Given the description of an element on the screen output the (x, y) to click on. 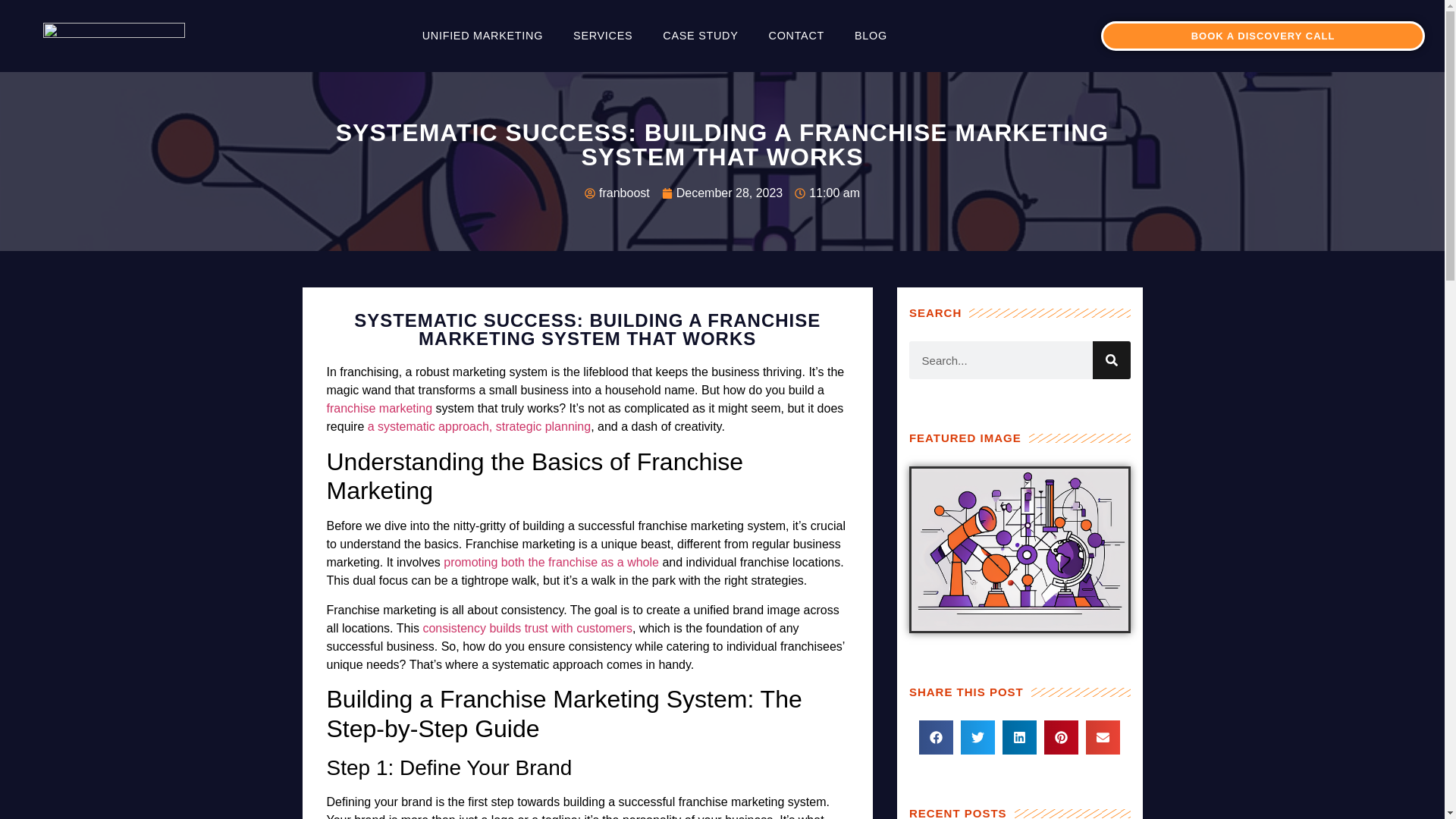
CONTACT (797, 35)
franchise marketing systems - franboost (113, 35)
BOOK A DISCOVERY CALL (1262, 35)
promoting both the franchise as a whole (551, 562)
December 28, 2023 (722, 193)
a systematic approach, strategic planning (479, 426)
SERVICES (602, 35)
BLOG (871, 35)
consistency builds trust with customers (526, 627)
franchise marketing systems - franboost (1019, 549)
CASE STUDY (699, 35)
franchise marketing (379, 408)
franboost (617, 193)
UNIFIED MARKETING (482, 35)
